Given the description of an element on the screen output the (x, y) to click on. 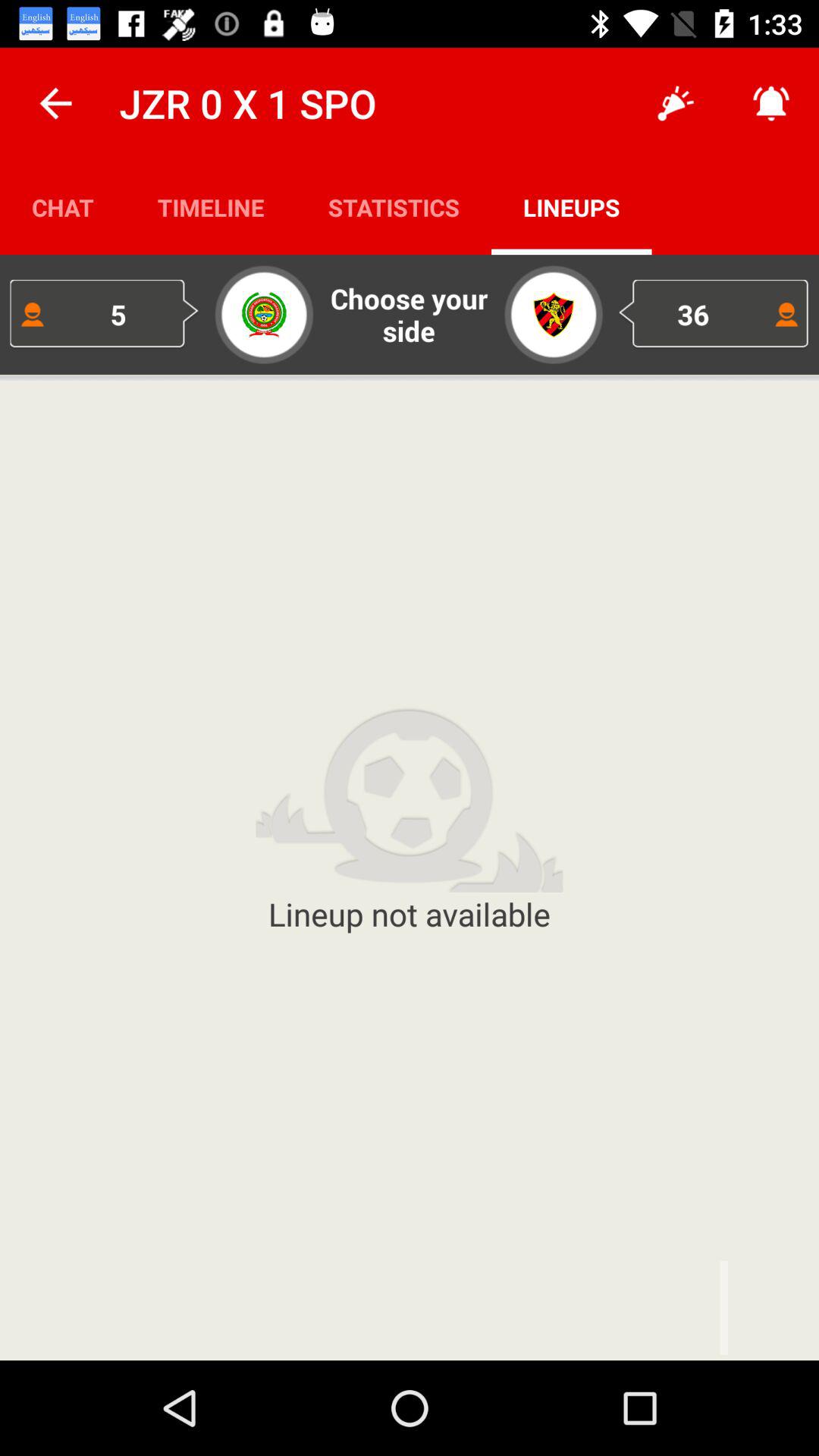
jump until timeline icon (210, 206)
